Given the description of an element on the screen output the (x, y) to click on. 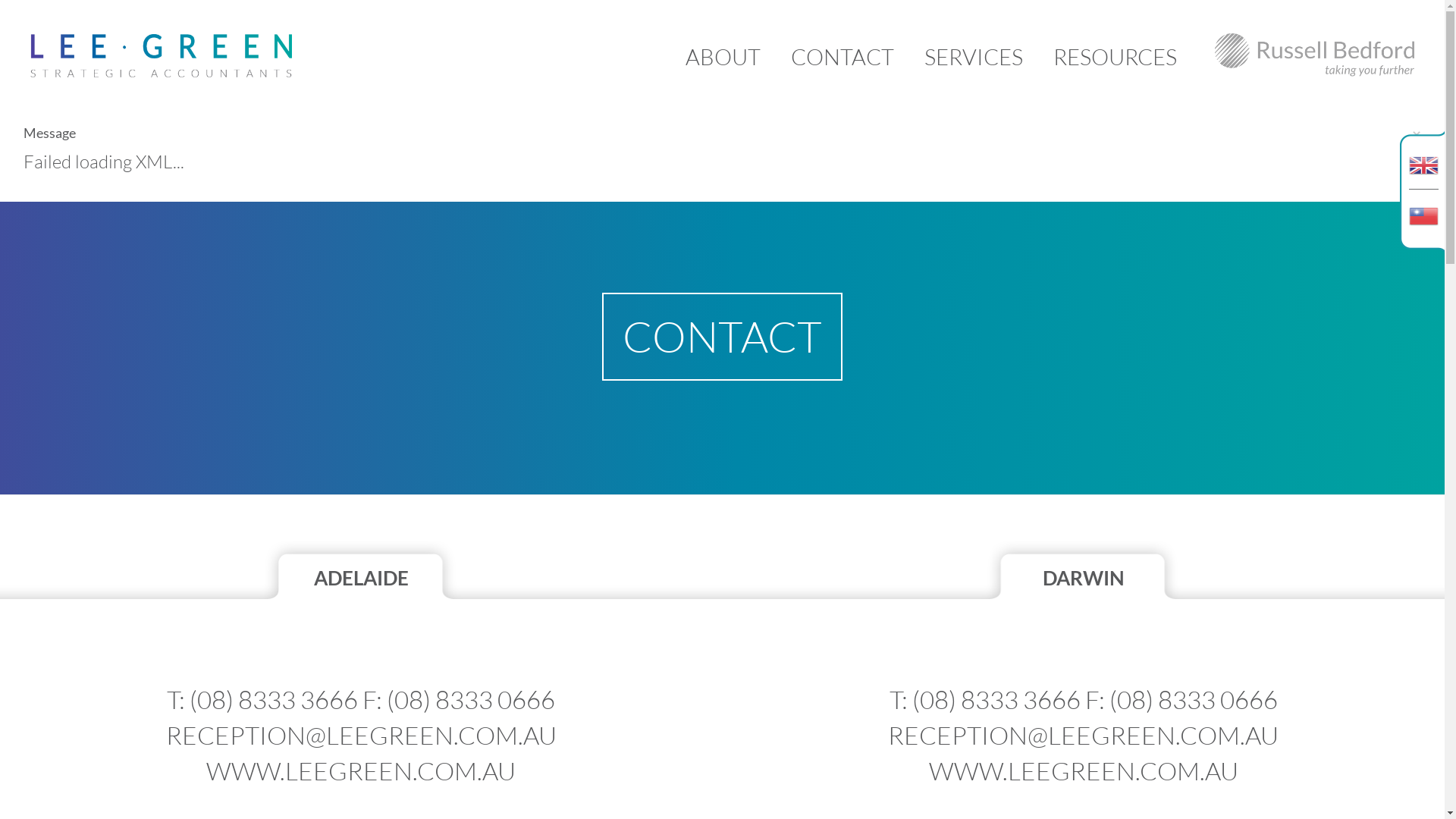
ABOUT Element type: text (722, 56)
RESOURCES Element type: text (1114, 56)
RECEPTION@LEEGREEN.COM.AU Element type: text (361, 734)
WWW.LEEGREEN.COM.AU Element type: text (360, 770)
WWW.LEEGREEN.COM.AU Element type: text (1083, 770)
Chinese (Traditional) Element type: hover (1423, 223)
SERVICES Element type: text (973, 56)
CONTACT Element type: text (842, 56)
RECEPTION@LEEGREEN.COM.AU Element type: text (1083, 734)
English Element type: hover (1423, 155)
